Given the description of an element on the screen output the (x, y) to click on. 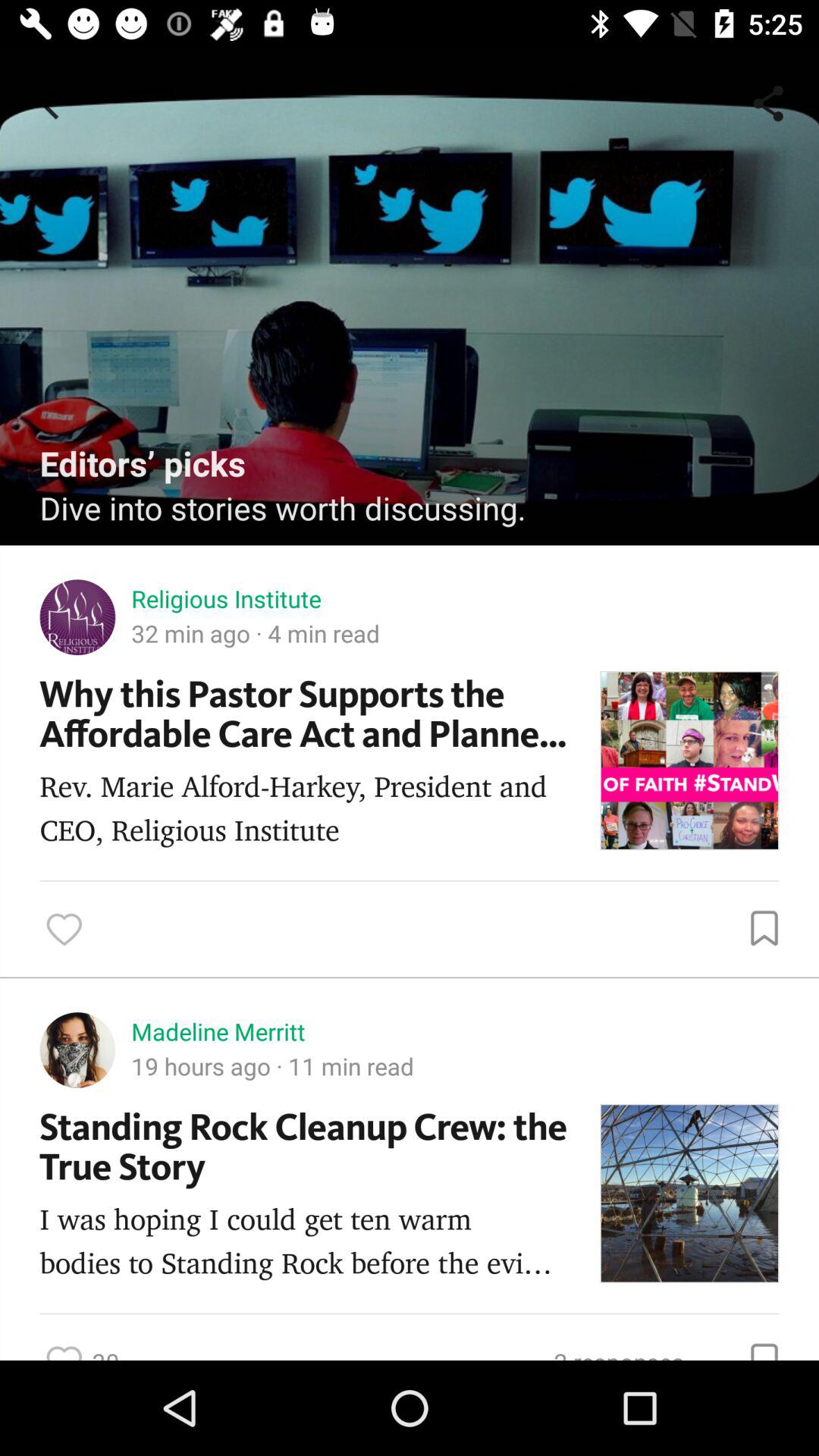
turn on item at the top right corner (771, 103)
